Given the description of an element on the screen output the (x, y) to click on. 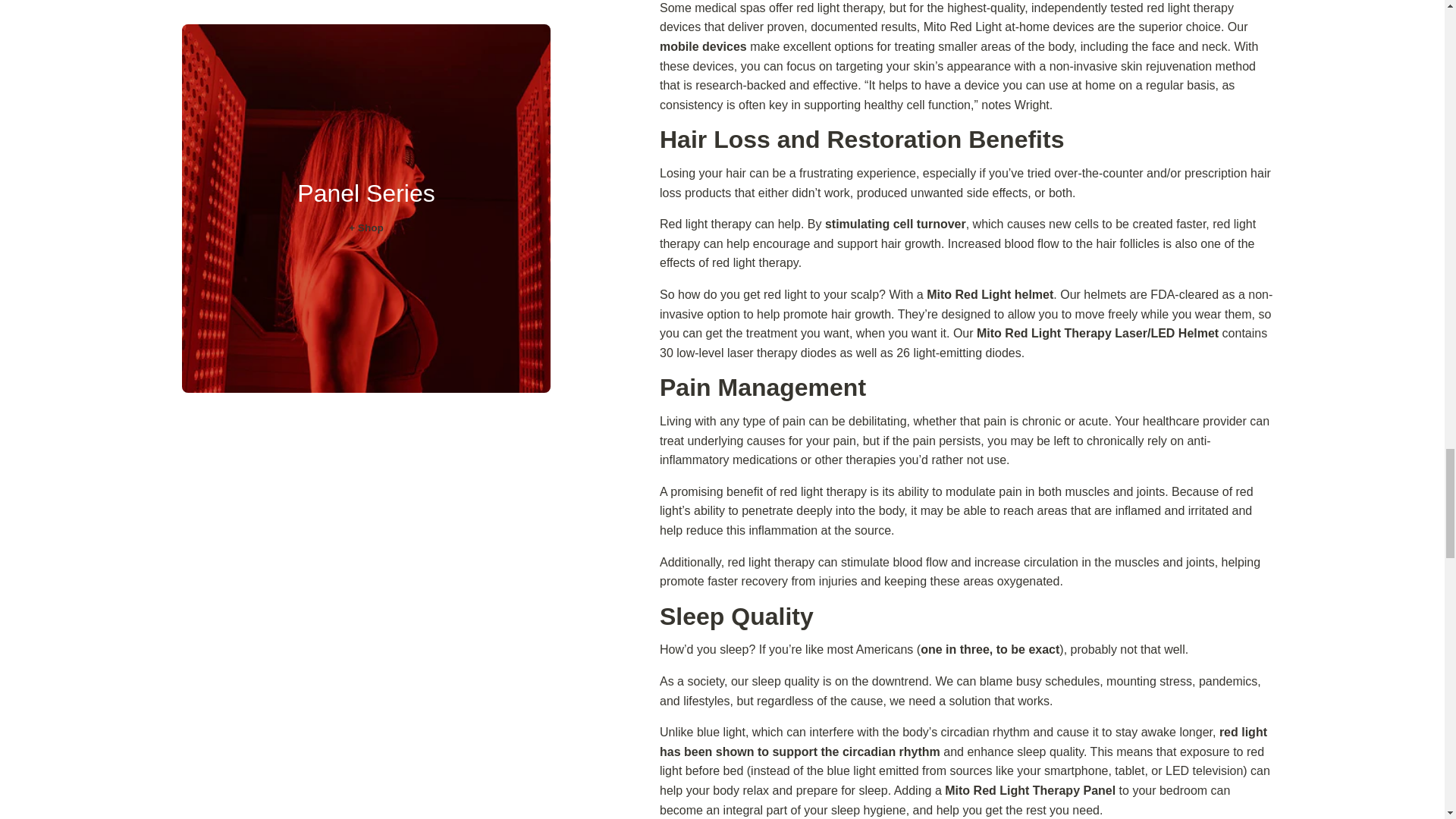
stimulating cell turnover (895, 223)
Mito Red Light helmet (989, 294)
one in three, to be exact (989, 649)
Mito Red Light Therapy Panel (1029, 789)
mobile devices (702, 46)
red light has been shown to support the circadian rhythm (962, 741)
